Given the description of an element on the screen output the (x, y) to click on. 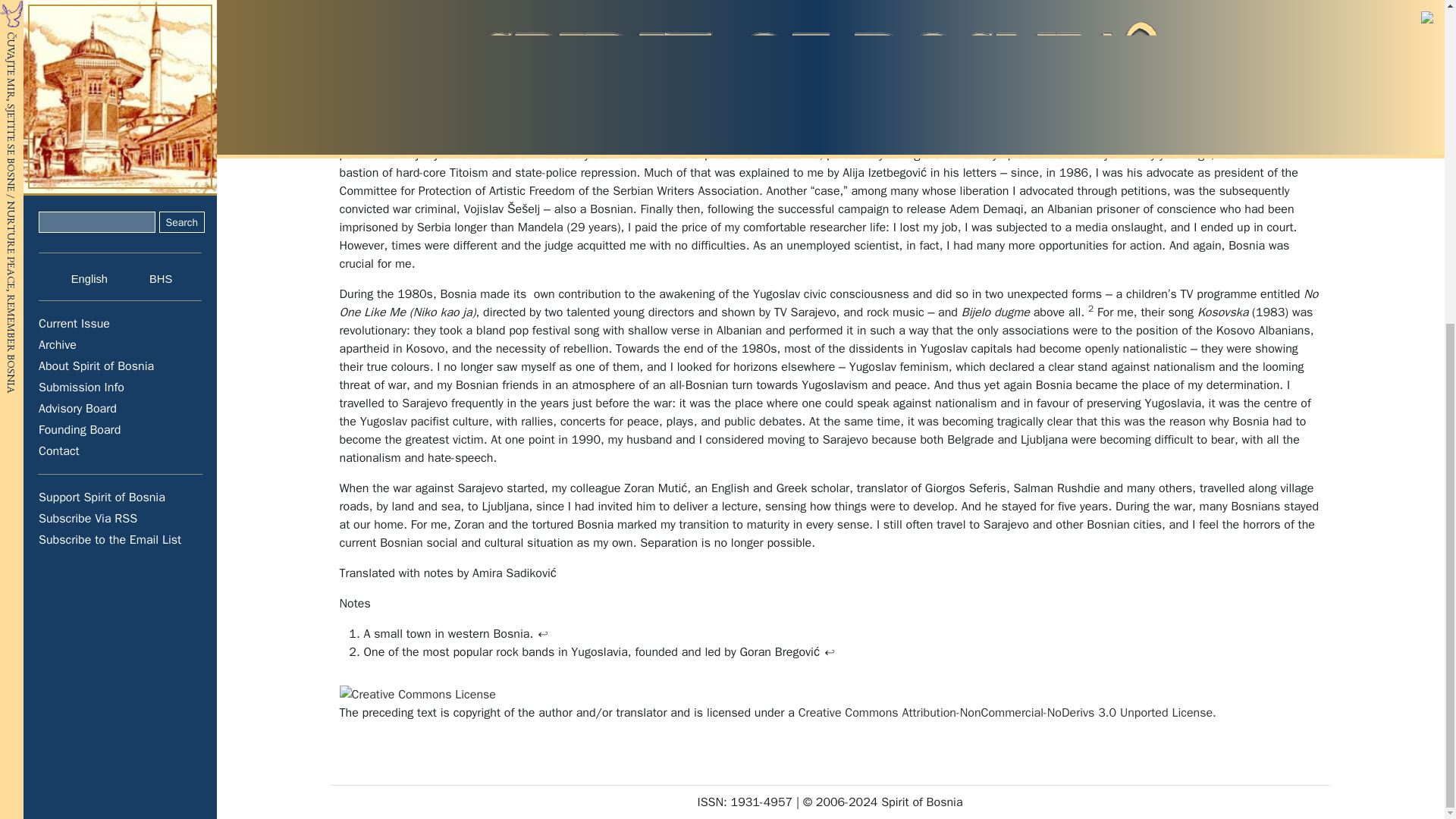
Subscribe to the Email List (121, 11)
